Given the description of an element on the screen output the (x, y) to click on. 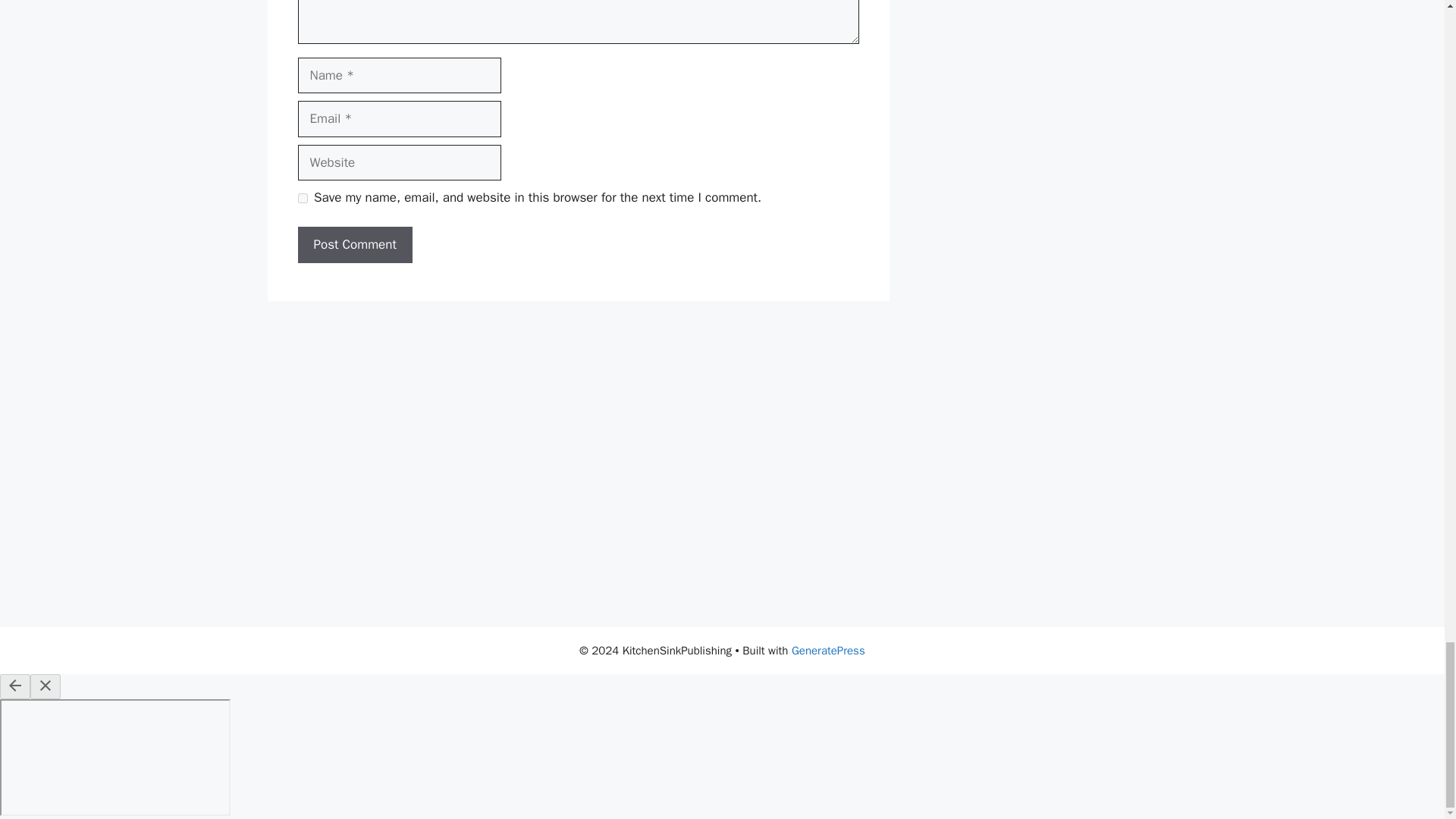
Post Comment (354, 244)
yes (302, 198)
GeneratePress (828, 650)
Post Comment (354, 244)
